Given the description of an element on the screen output the (x, y) to click on. 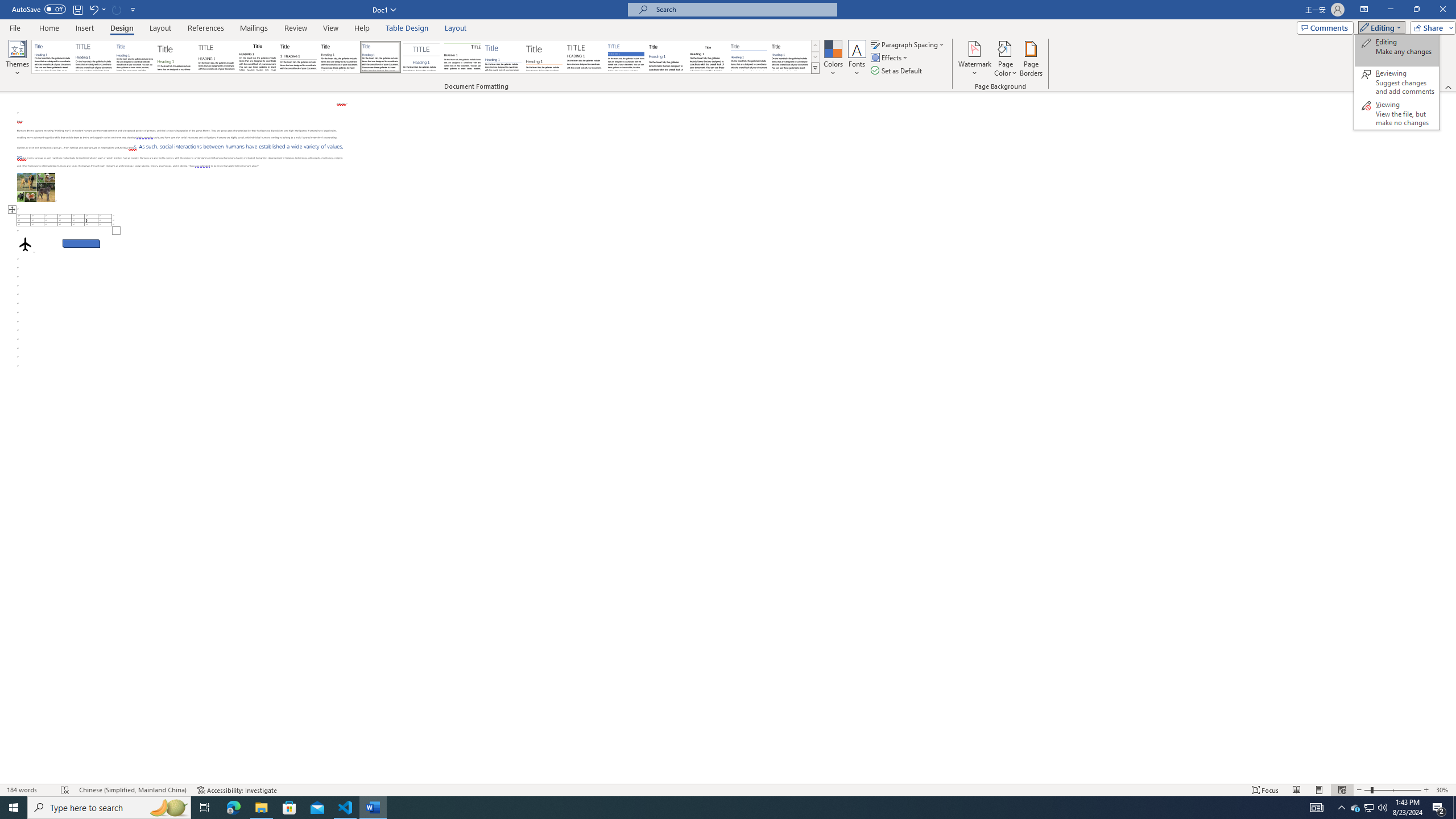
Shaded (625, 56)
Page Borders... (1031, 58)
Basic (Simple) (135, 56)
Lines (Stylish) (544, 56)
Watermark (974, 58)
Word Count 184 words (28, 790)
